Given the description of an element on the screen output the (x, y) to click on. 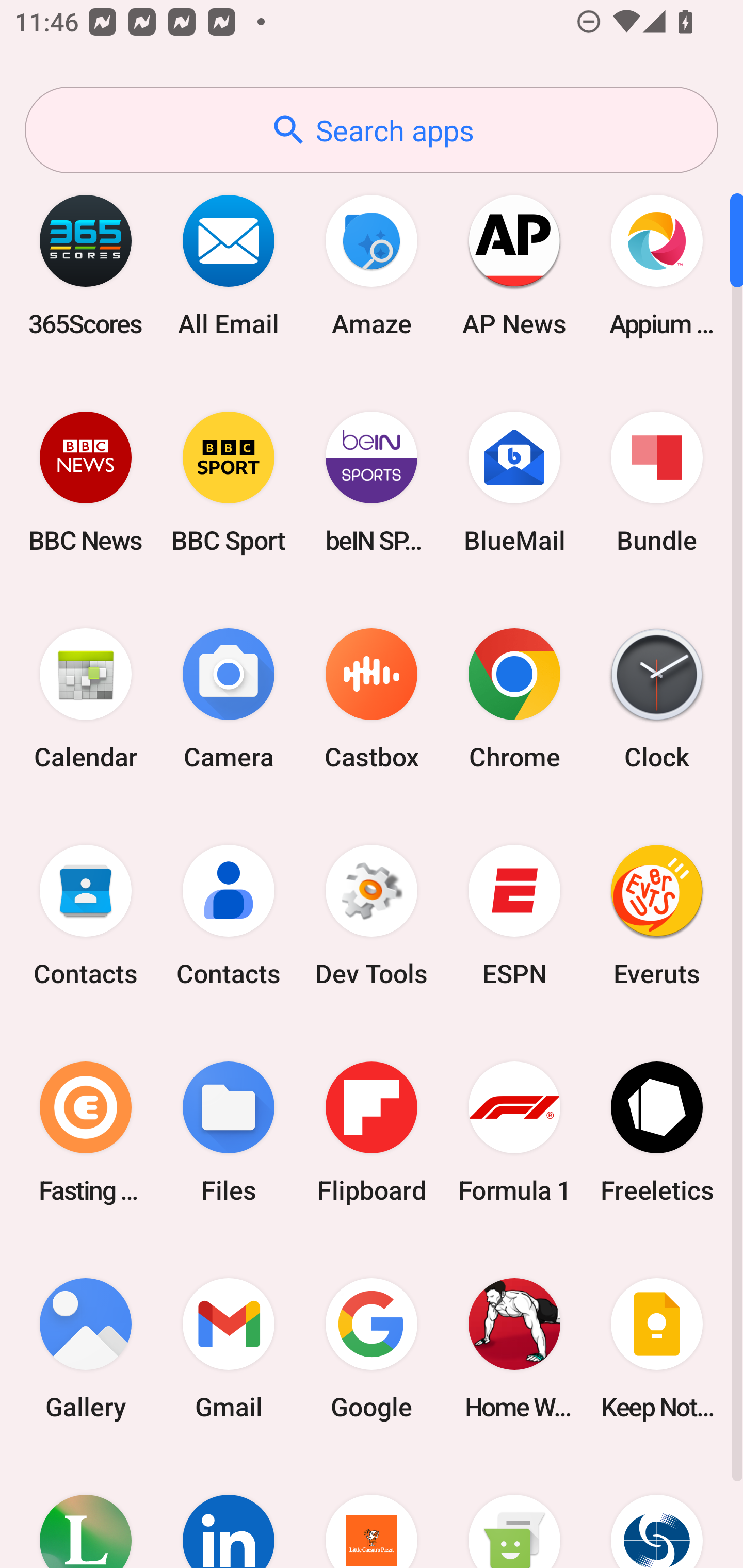
  Search apps (371, 130)
365Scores (85, 264)
All Email (228, 264)
Amaze (371, 264)
AP News (514, 264)
Appium Settings (656, 264)
BBC News (85, 482)
BBC Sport (228, 482)
beIN SPORTS (371, 482)
BlueMail (514, 482)
Bundle (656, 482)
Calendar (85, 699)
Camera (228, 699)
Castbox (371, 699)
Chrome (514, 699)
Clock (656, 699)
Contacts (85, 915)
Contacts (228, 915)
Dev Tools (371, 915)
ESPN (514, 915)
Everuts (656, 915)
Fasting Coach (85, 1131)
Files (228, 1131)
Flipboard (371, 1131)
Formula 1 (514, 1131)
Freeletics (656, 1131)
Gallery (85, 1348)
Gmail (228, 1348)
Google (371, 1348)
Home Workout (514, 1348)
Keep Notes (656, 1348)
